Given the description of an element on the screen output the (x, y) to click on. 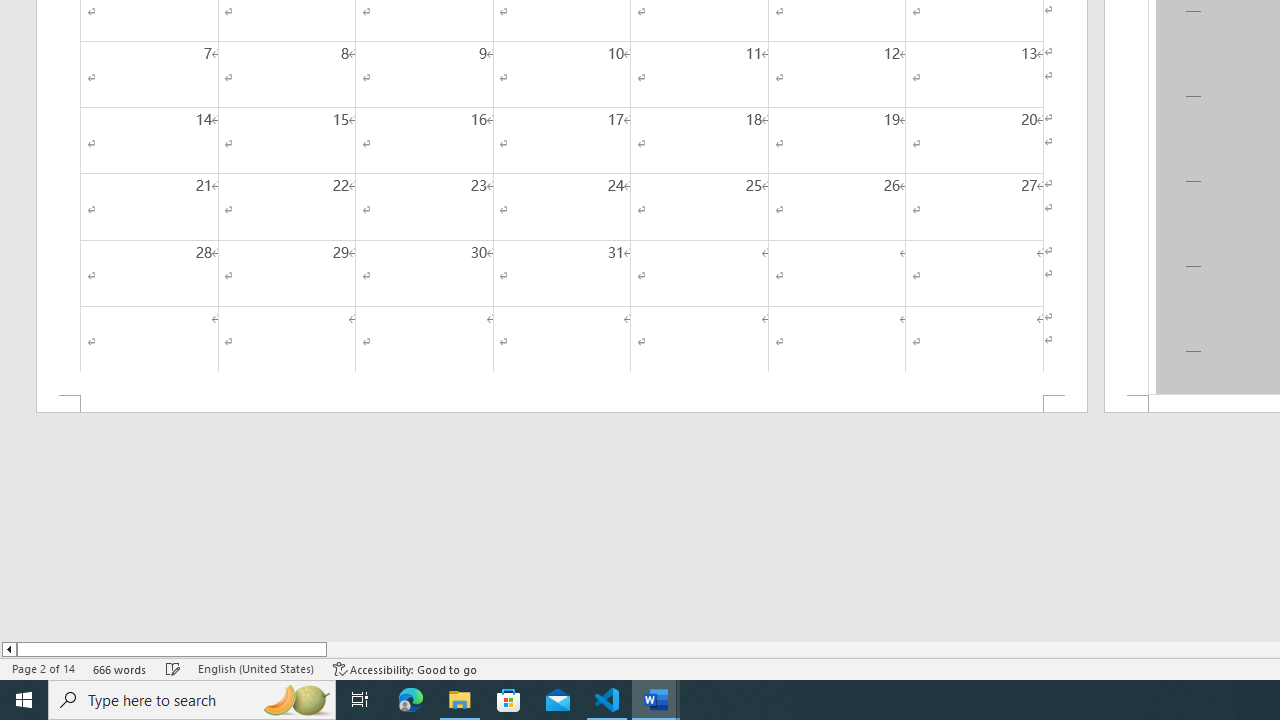
Page Number Page 2 of 14 (43, 668)
Column left (8, 649)
